Given the description of an element on the screen output the (x, y) to click on. 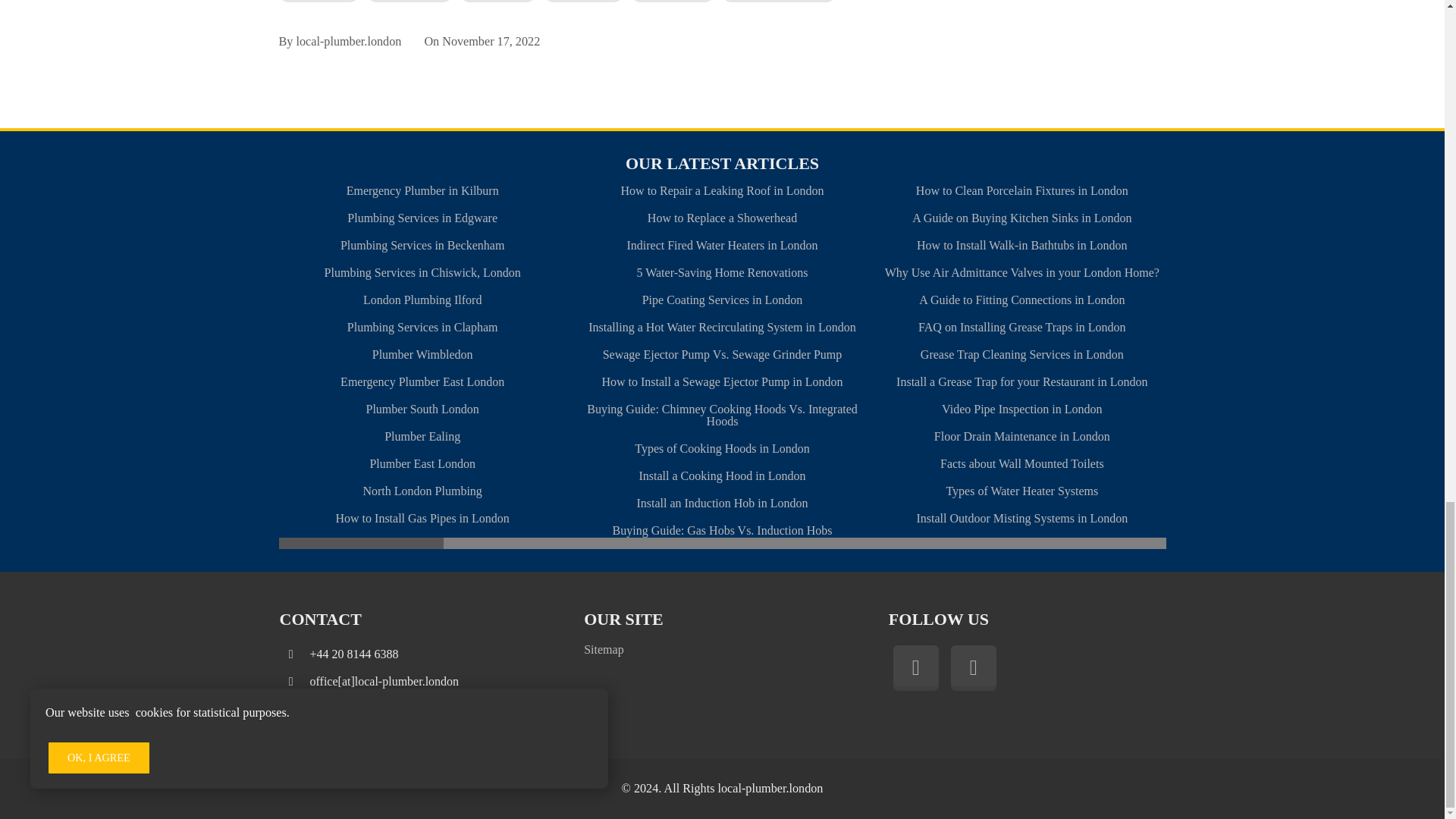
london plumbing (319, 1)
plumbers near me (672, 1)
plumbers london (583, 1)
plumber london (497, 1)
plumbing services london (778, 1)
plumber in london (409, 1)
